Given the description of an element on the screen output the (x, y) to click on. 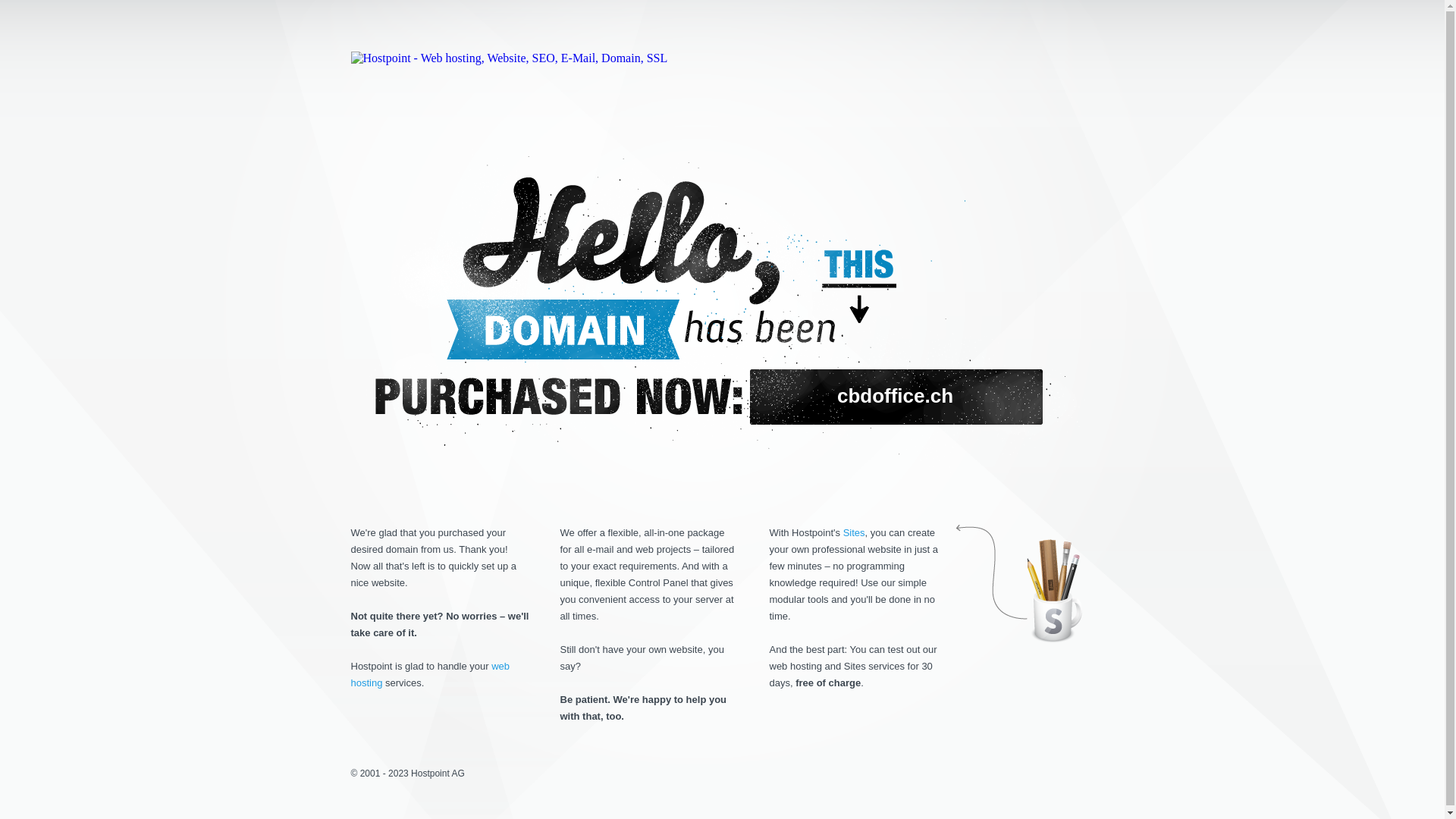
Sites Element type: text (854, 532)
web hosting Element type: text (429, 674)
